Given the description of an element on the screen output the (x, y) to click on. 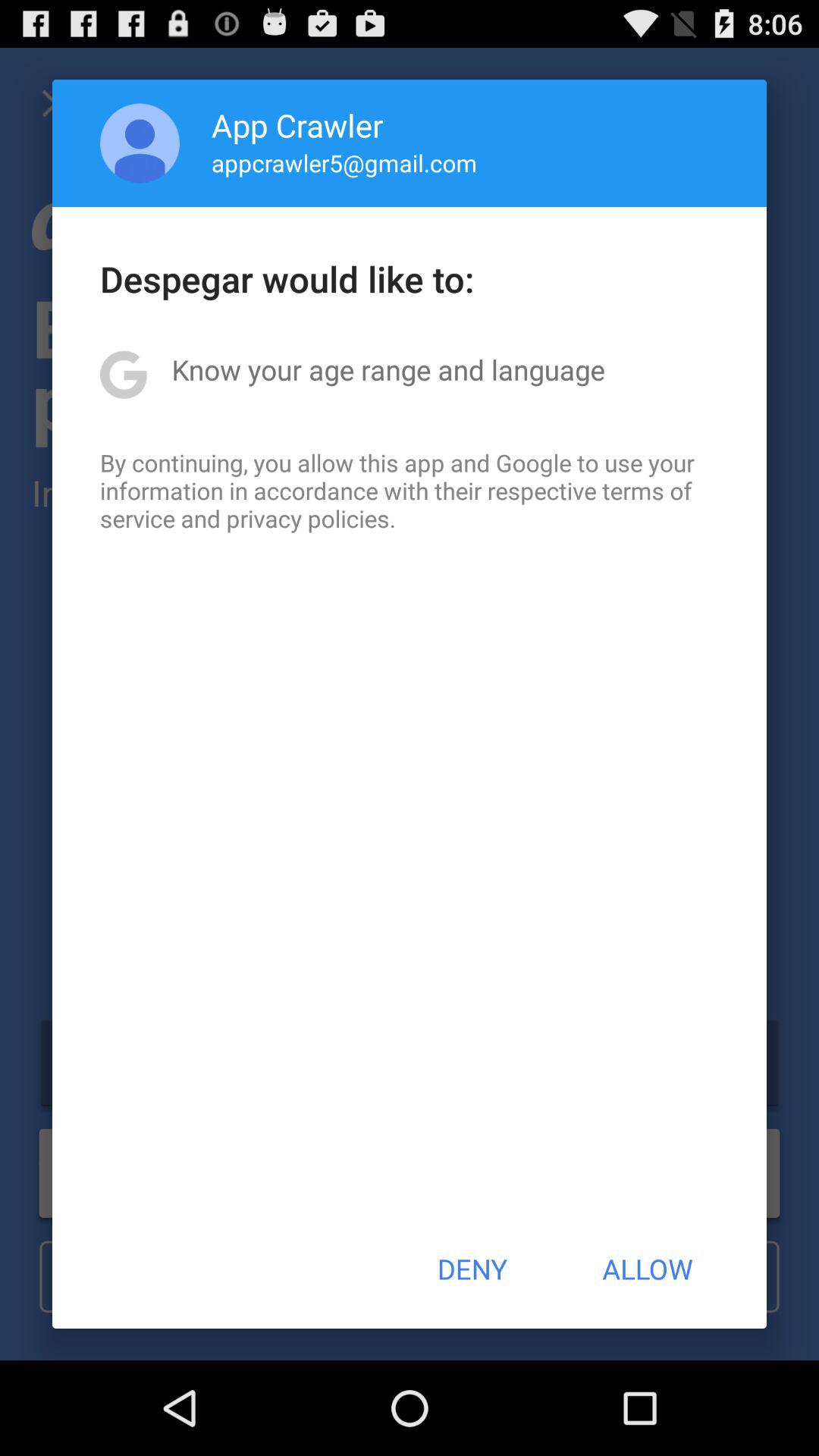
scroll to app crawler item (297, 124)
